Given the description of an element on the screen output the (x, y) to click on. 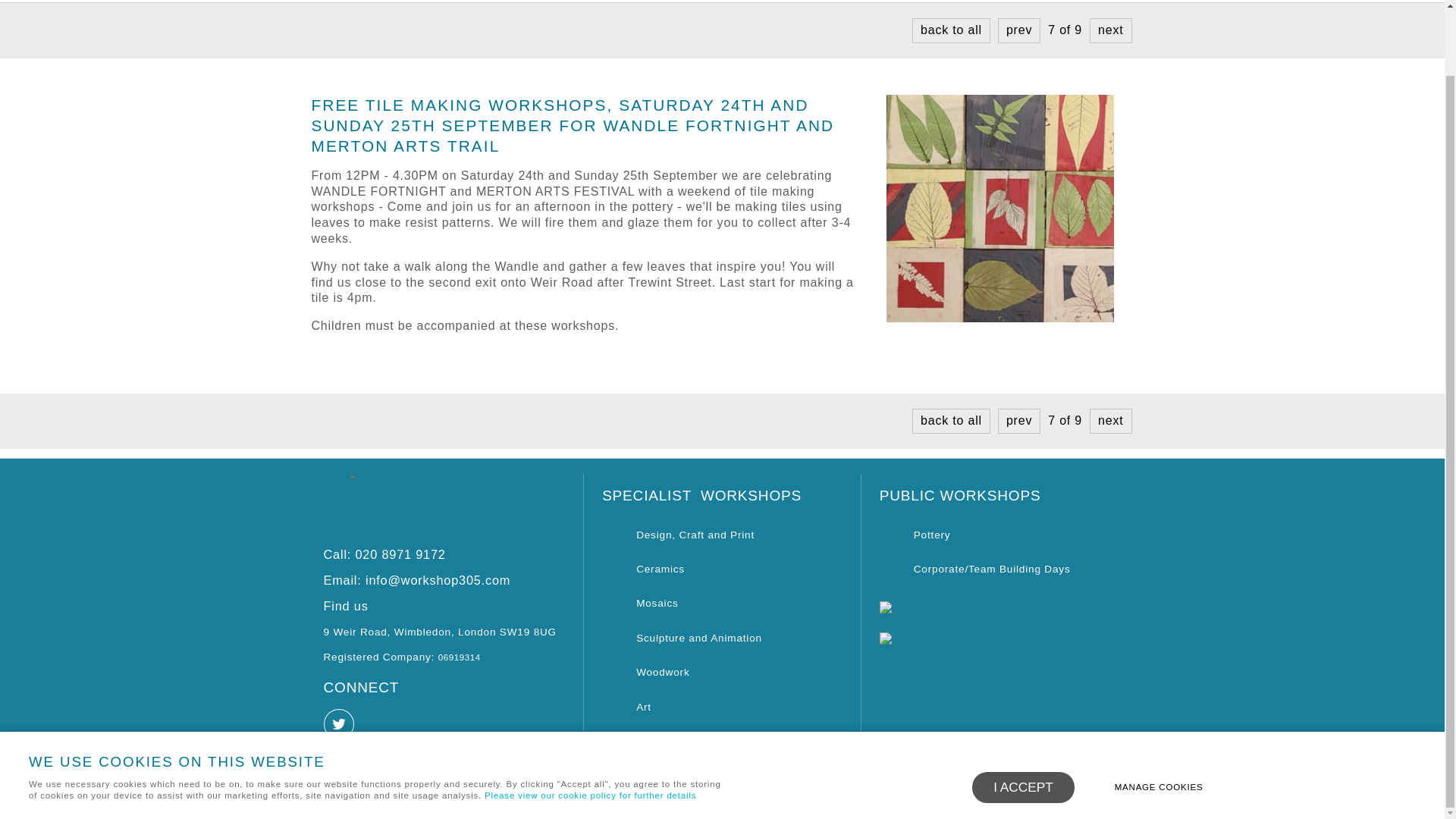
Design, Craft and Print (678, 534)
Find us (345, 605)
Call: 020 8971 9172 (384, 554)
back to all (950, 420)
next (1109, 29)
prev (1019, 29)
prev (1019, 420)
email (417, 580)
Twitter (339, 735)
Instagram (377, 735)
next (1109, 420)
tel (384, 554)
back to all (950, 29)
